Given the description of an element on the screen output the (x, y) to click on. 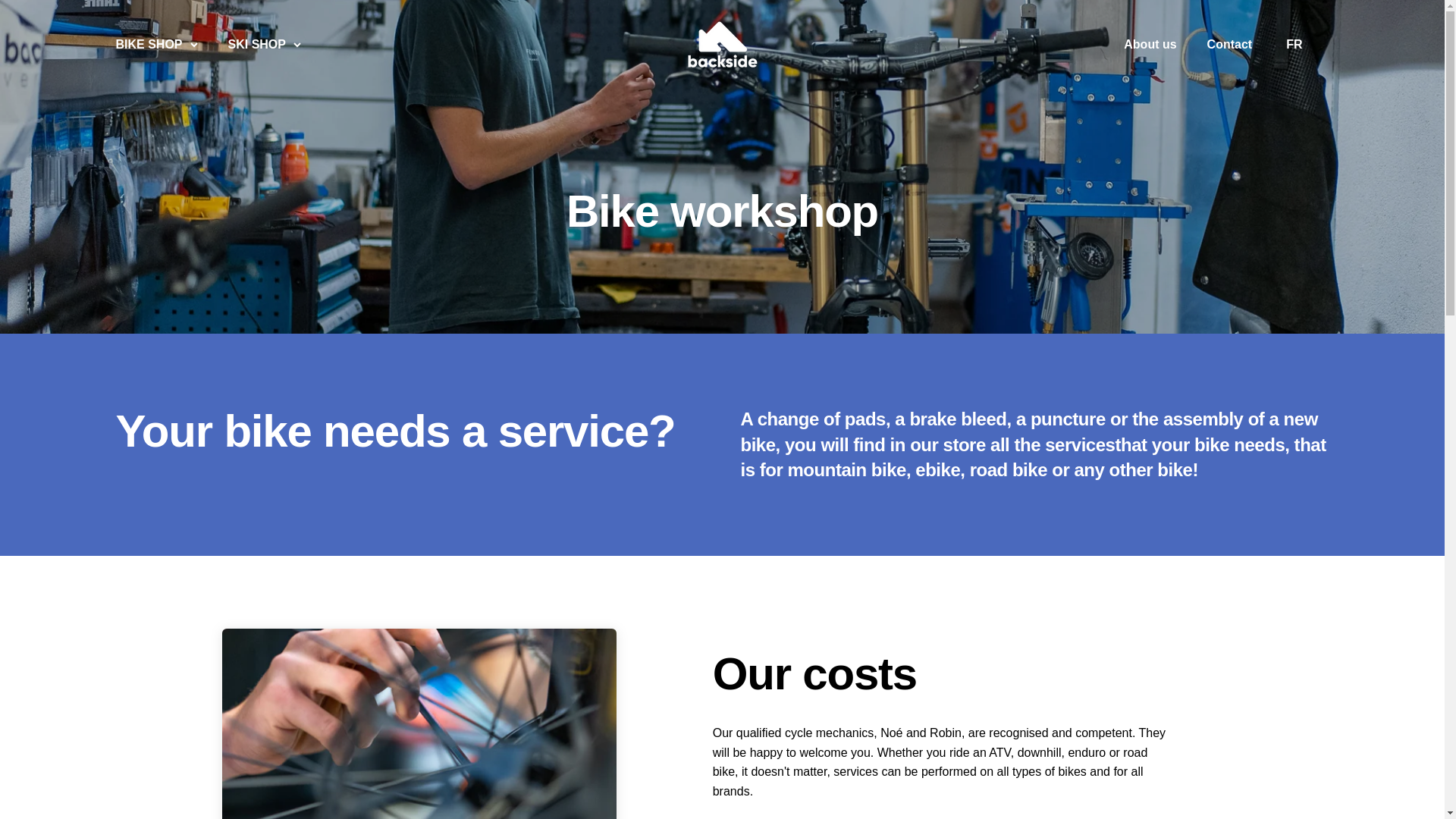
Contact (1229, 43)
FR (1294, 44)
Backside Verbier (722, 44)
French (1294, 44)
About us (1150, 43)
